Given the description of an element on the screen output the (x, y) to click on. 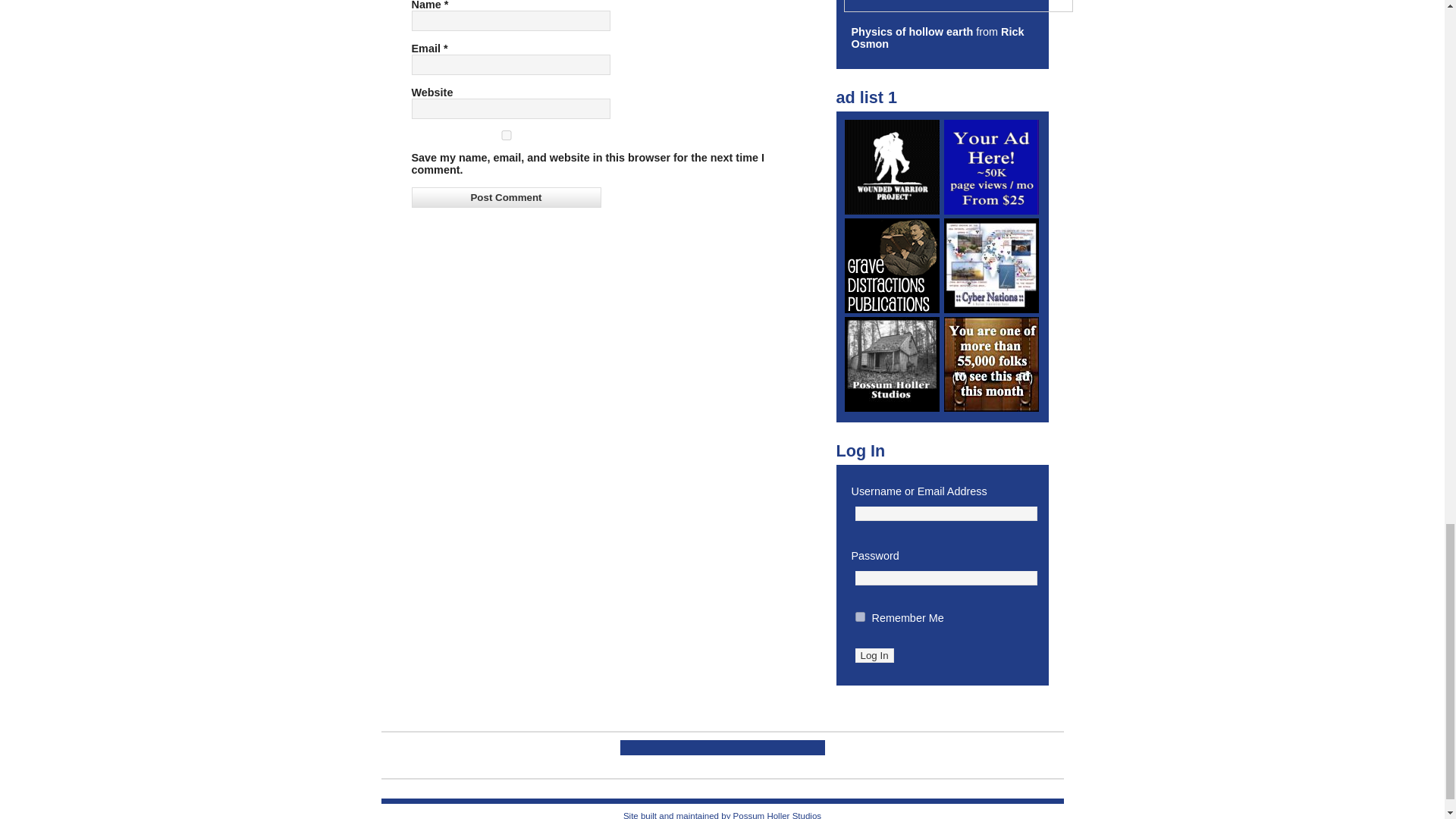
Physics of Hollow Earth (911, 31)
forever (860, 616)
Post Comment (504, 197)
yes (504, 135)
Post Comment (504, 197)
Log In (874, 655)
